Given the description of an element on the screen output the (x, y) to click on. 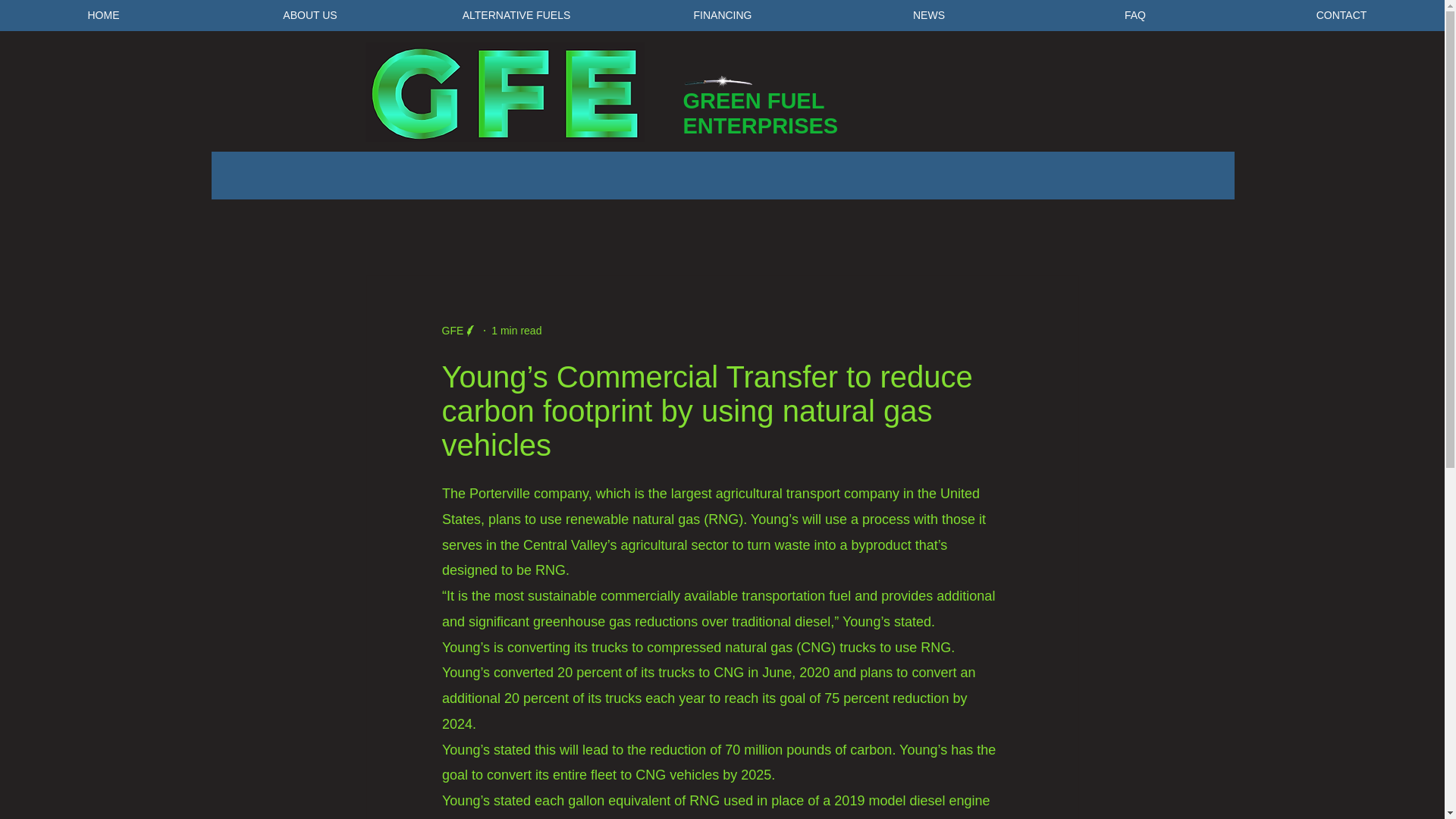
ALTERNATIVE FUELS (516, 15)
1 min read (516, 330)
FAQ (1135, 15)
GFE (452, 330)
FINANCING (722, 15)
NEWS (928, 15)
ABOUT US (309, 15)
HOME (103, 15)
